Given the description of an element on the screen output the (x, y) to click on. 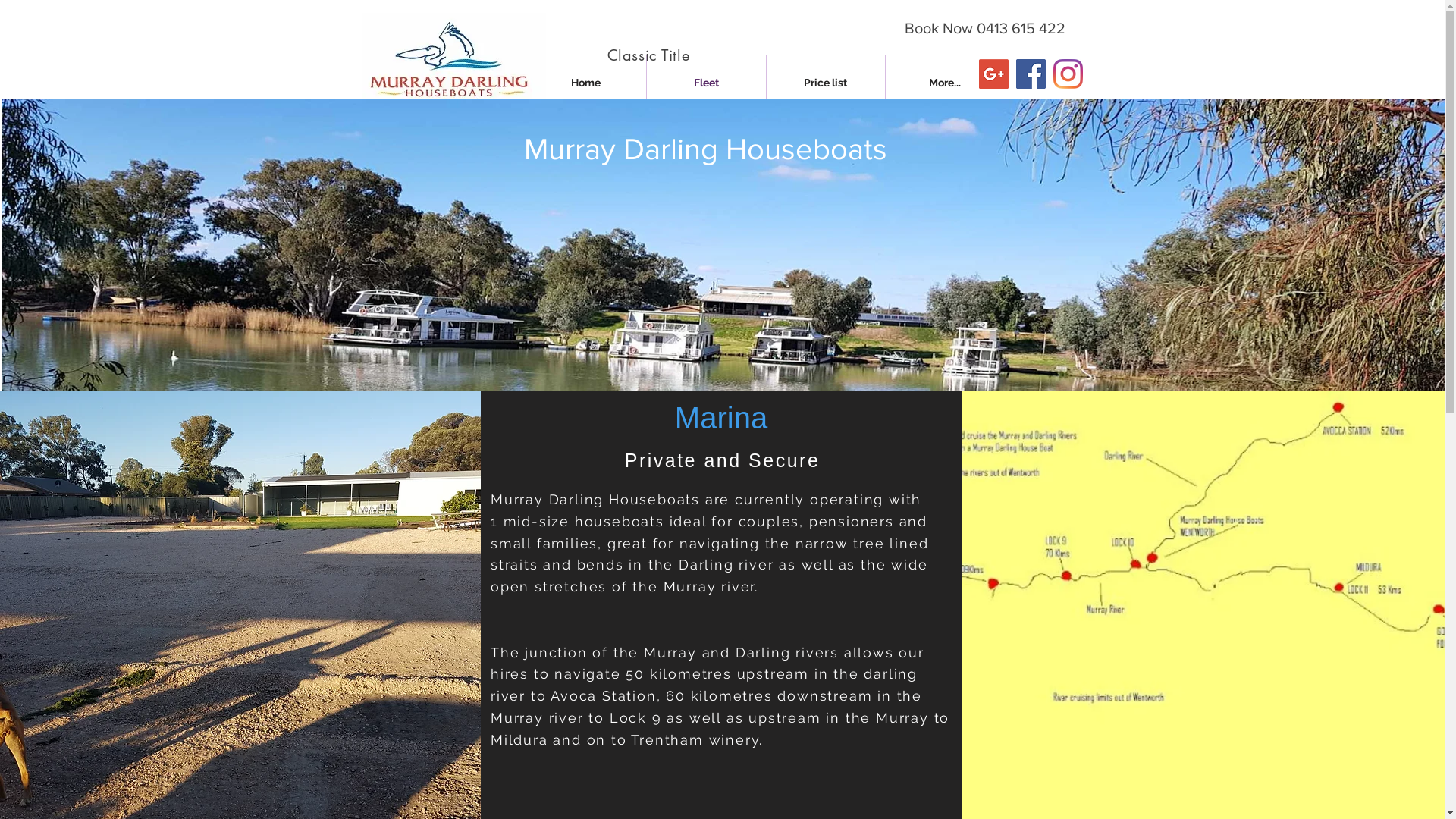
Fleet Element type: text (705, 82)
Home Element type: text (586, 82)
Price list Element type: text (824, 82)
